Given the description of an element on the screen output the (x, y) to click on. 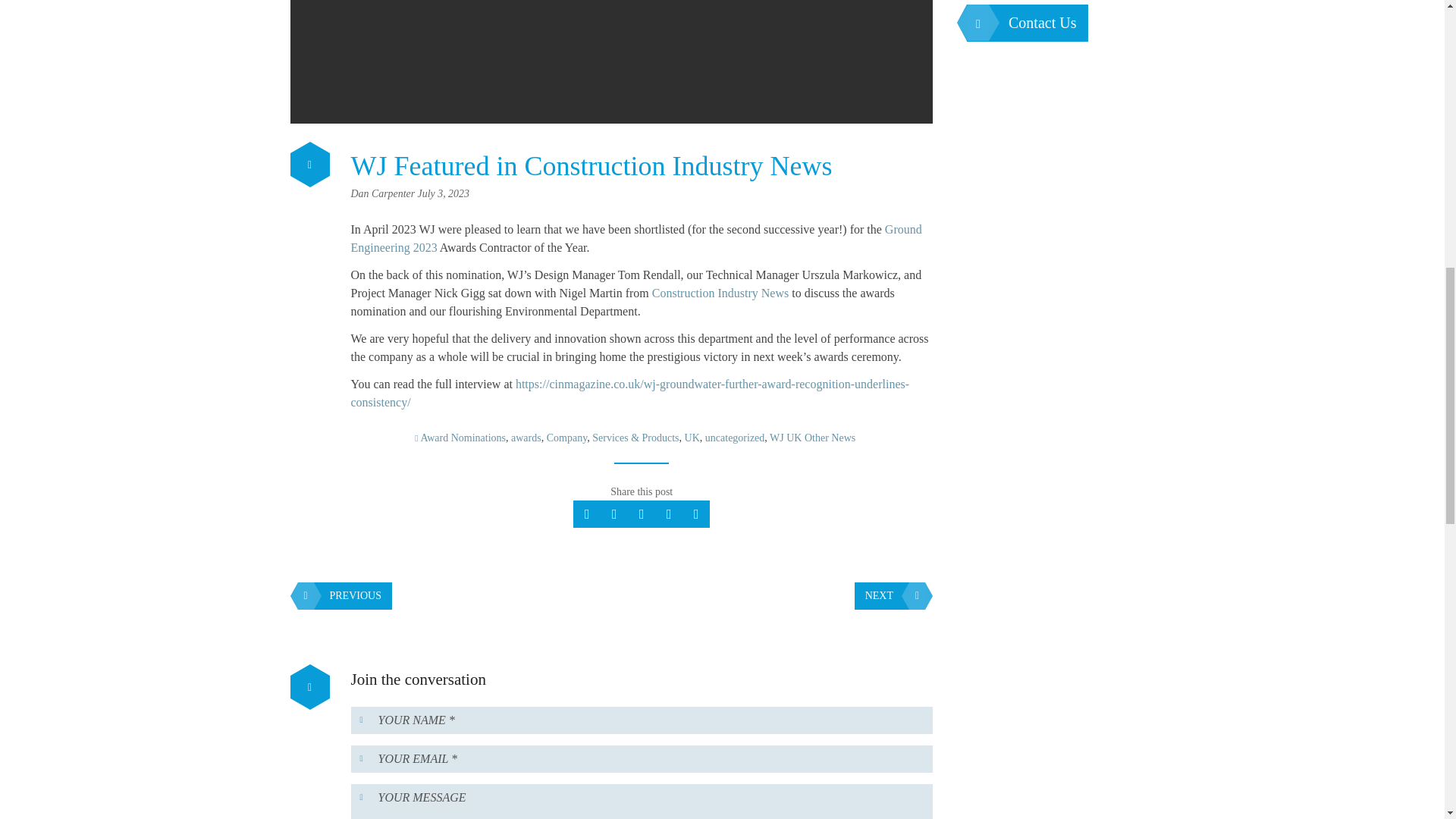
Share on LinkedIn (696, 513)
Permalink to WJ Featured in Construction Industry News (590, 165)
Pin on Pinterest (668, 513)
Share on Facebook (641, 513)
Share on Twitter (586, 513)
